Given the description of an element on the screen output the (x, y) to click on. 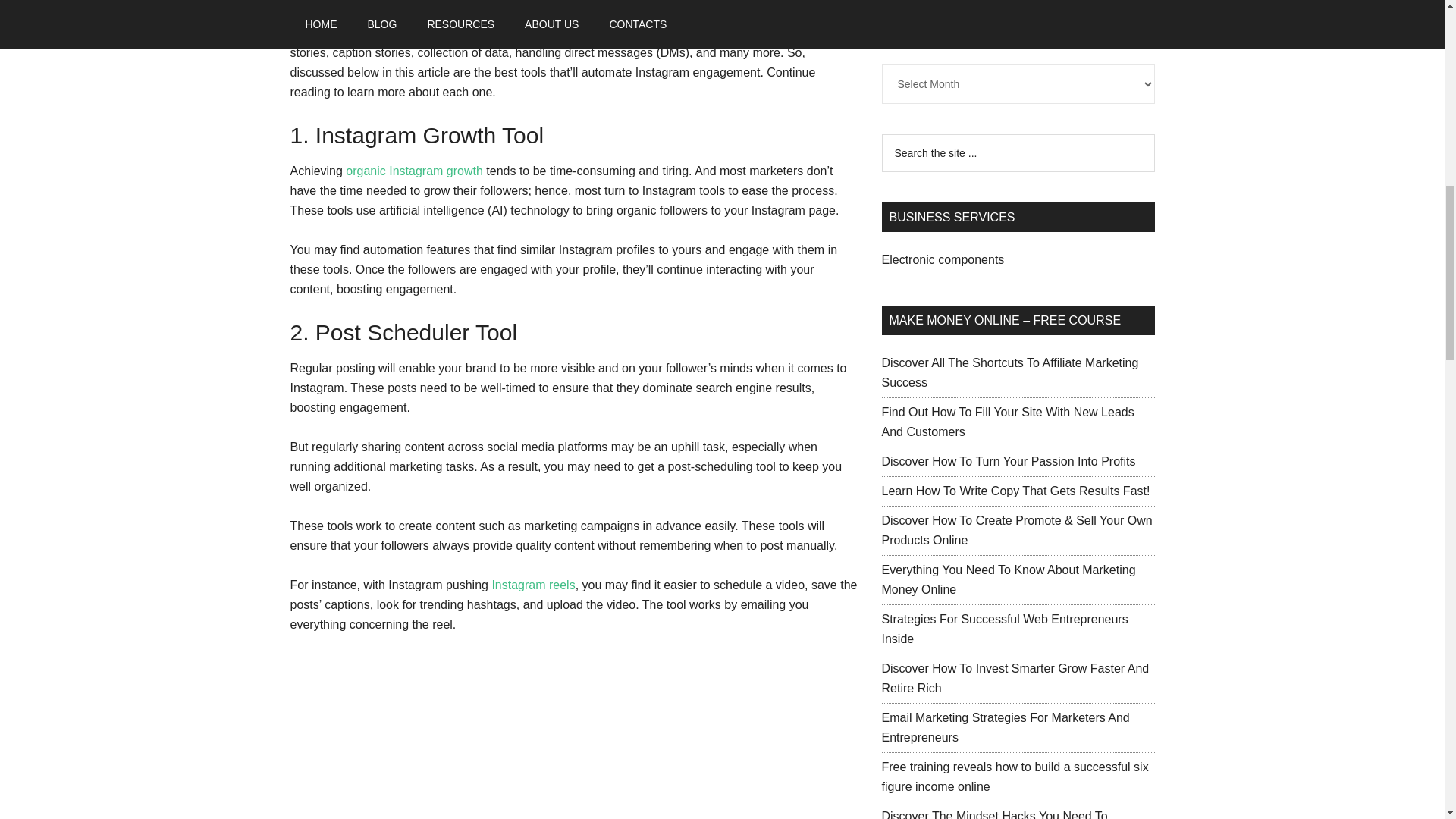
organic Instagram growth (414, 170)
Instagram reels (533, 584)
